Given the description of an element on the screen output the (x, y) to click on. 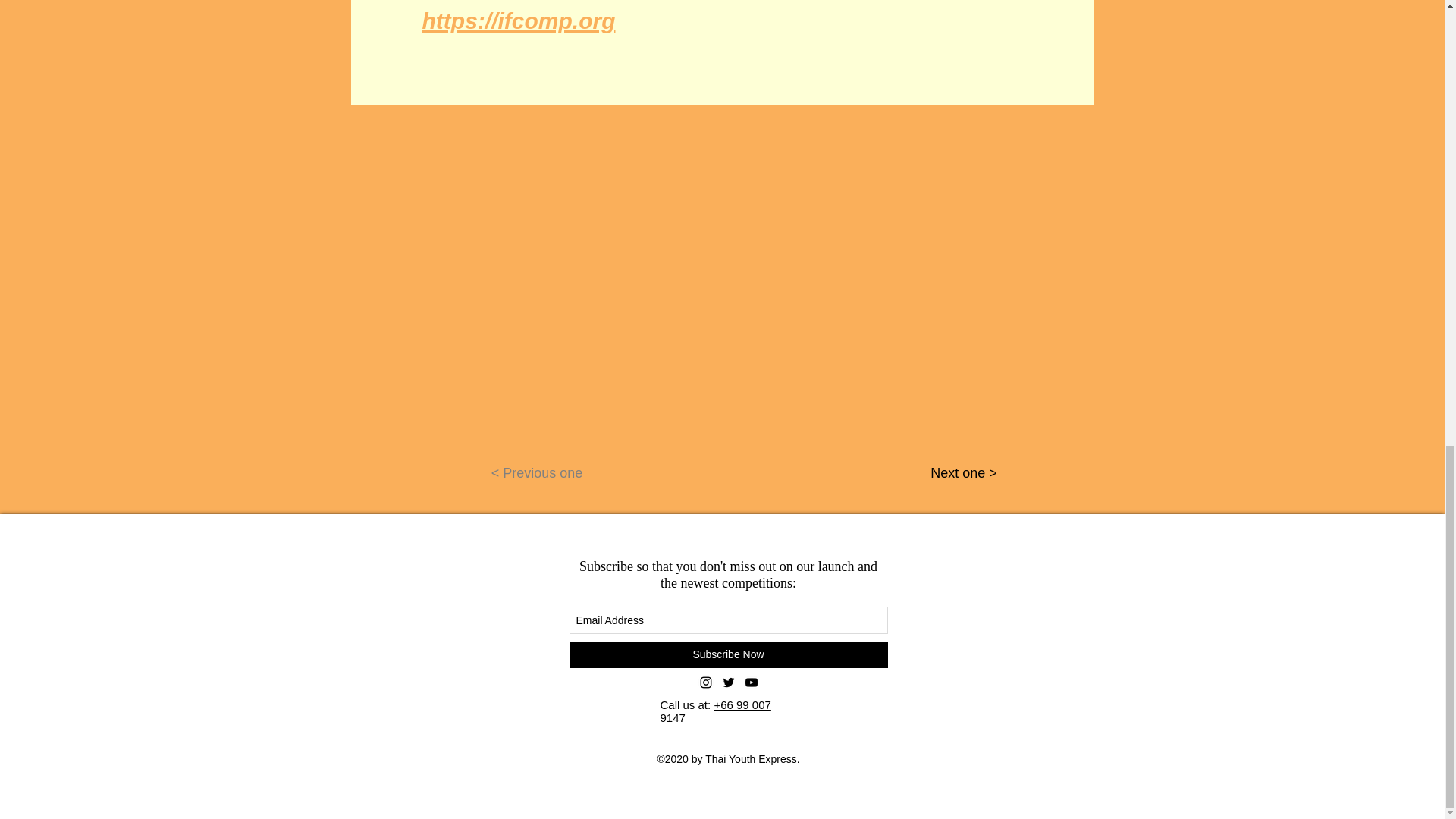
Subscribe Now (727, 654)
